Given the description of an element on the screen output the (x, y) to click on. 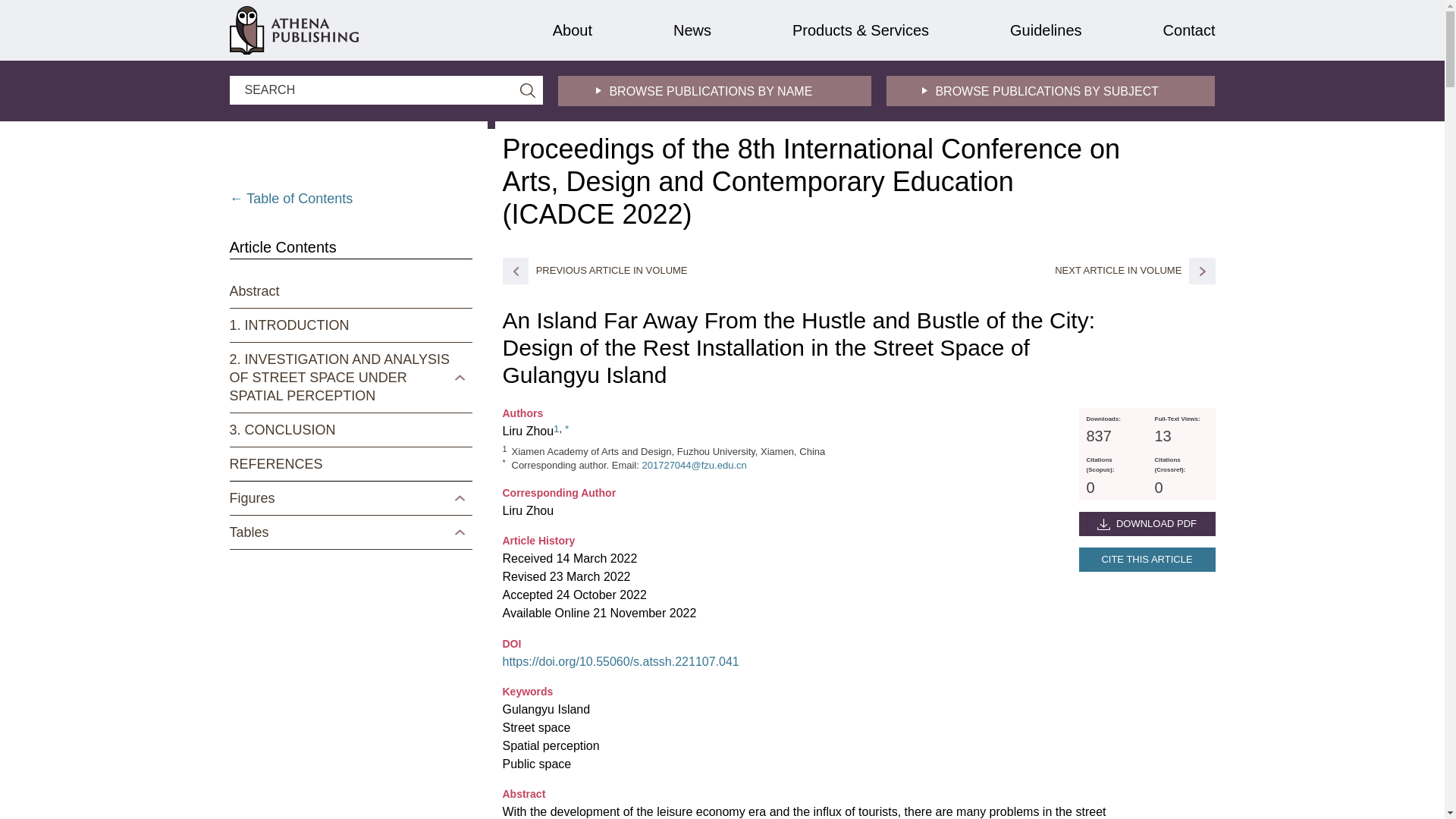
1. INTRODUCTION (346, 325)
Guidelines (1045, 30)
News (691, 30)
3. CONCLUSION (346, 429)
About (572, 30)
PREVIOUS ARTICLE IN VOLUME (594, 269)
BROWSE PUBLICATIONS BY SUBJECT (1050, 91)
NEXT ARTICLE IN VOLUME (1134, 270)
Article Contents (282, 247)
Contact (1189, 30)
Abstract (346, 290)
REFERENCES (346, 464)
BROWSE PUBLICATIONS BY NAME (713, 91)
CITE THIS ARTICLE (1146, 559)
